Given the description of an element on the screen output the (x, y) to click on. 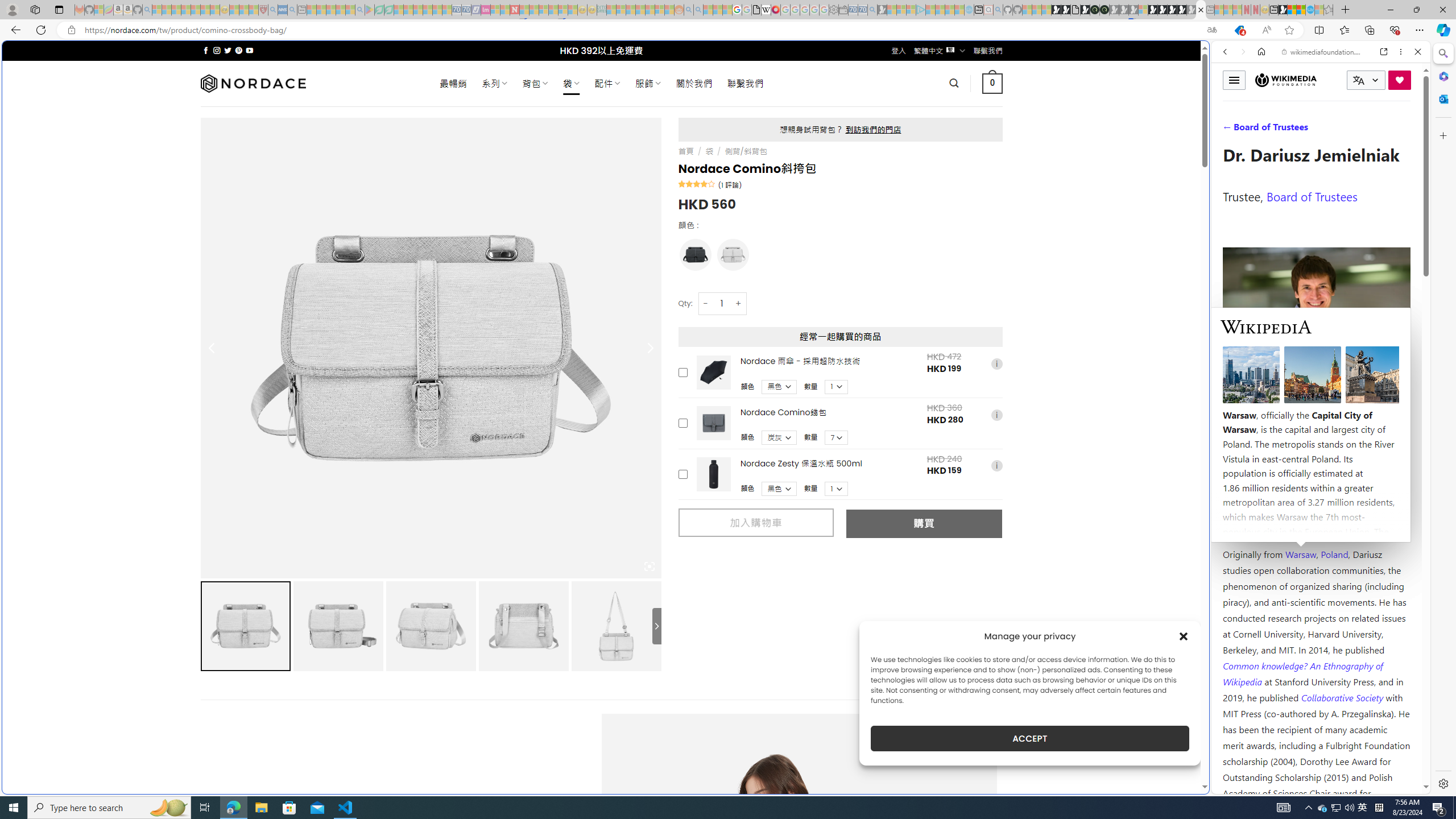
Toggle menu (1233, 80)
Sign in to your account - Sleeping (1143, 9)
MediaWiki (774, 9)
